Given the description of an element on the screen output the (x, y) to click on. 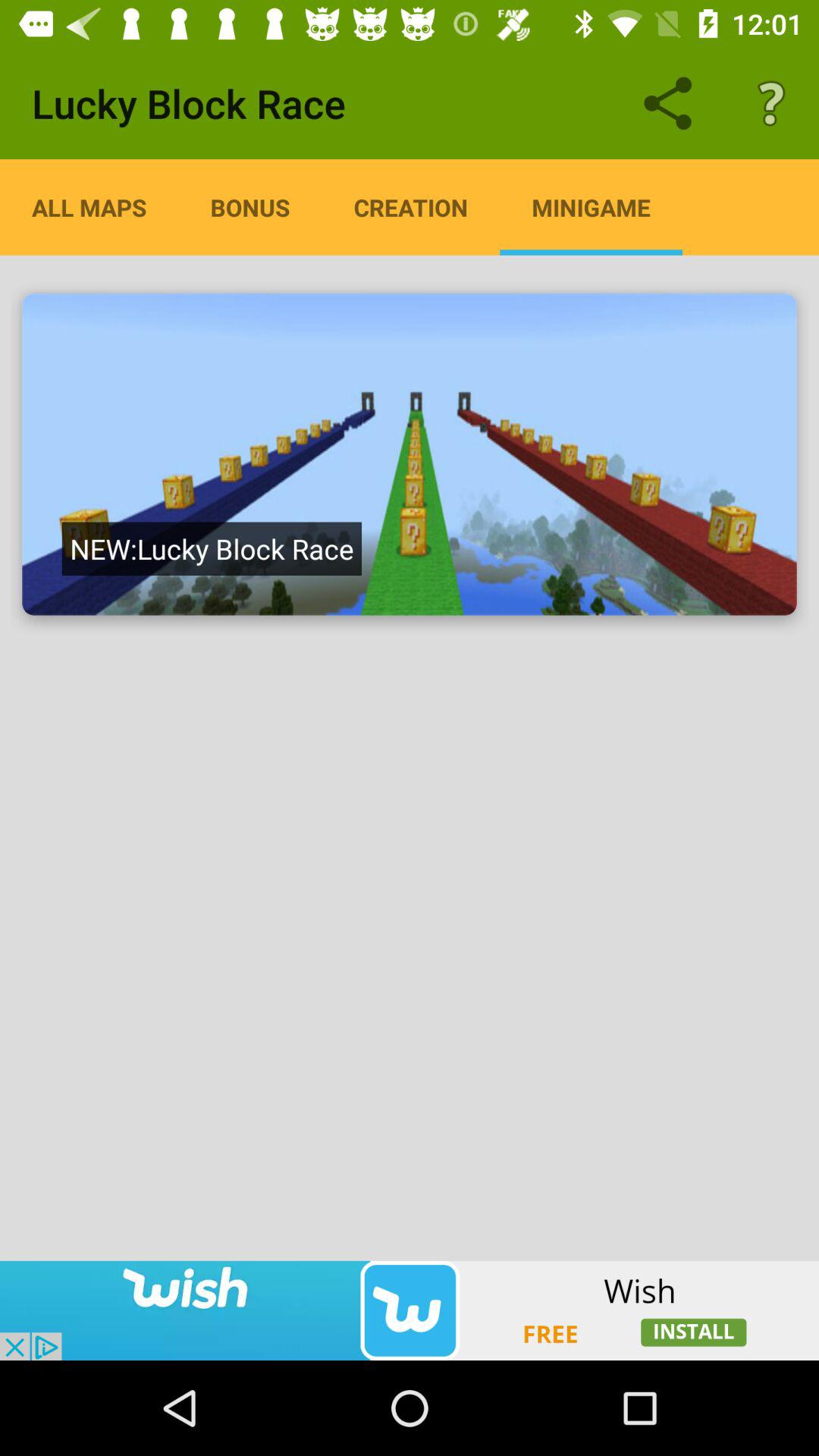
open link to install app (409, 1310)
